Given the description of an element on the screen output the (x, y) to click on. 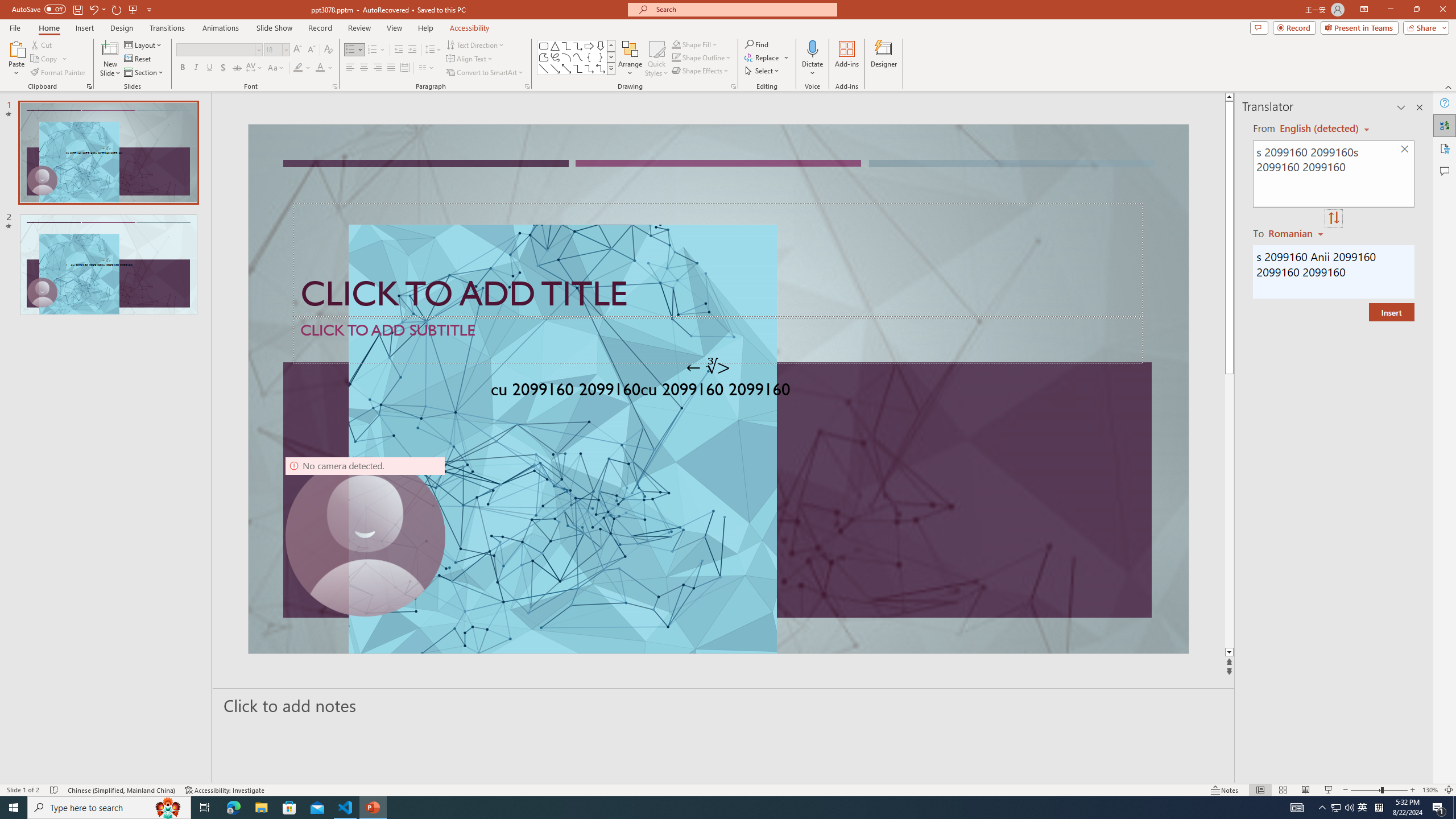
Clear text (1404, 149)
Zoom 130% (1430, 790)
